Given the description of an element on the screen output the (x, y) to click on. 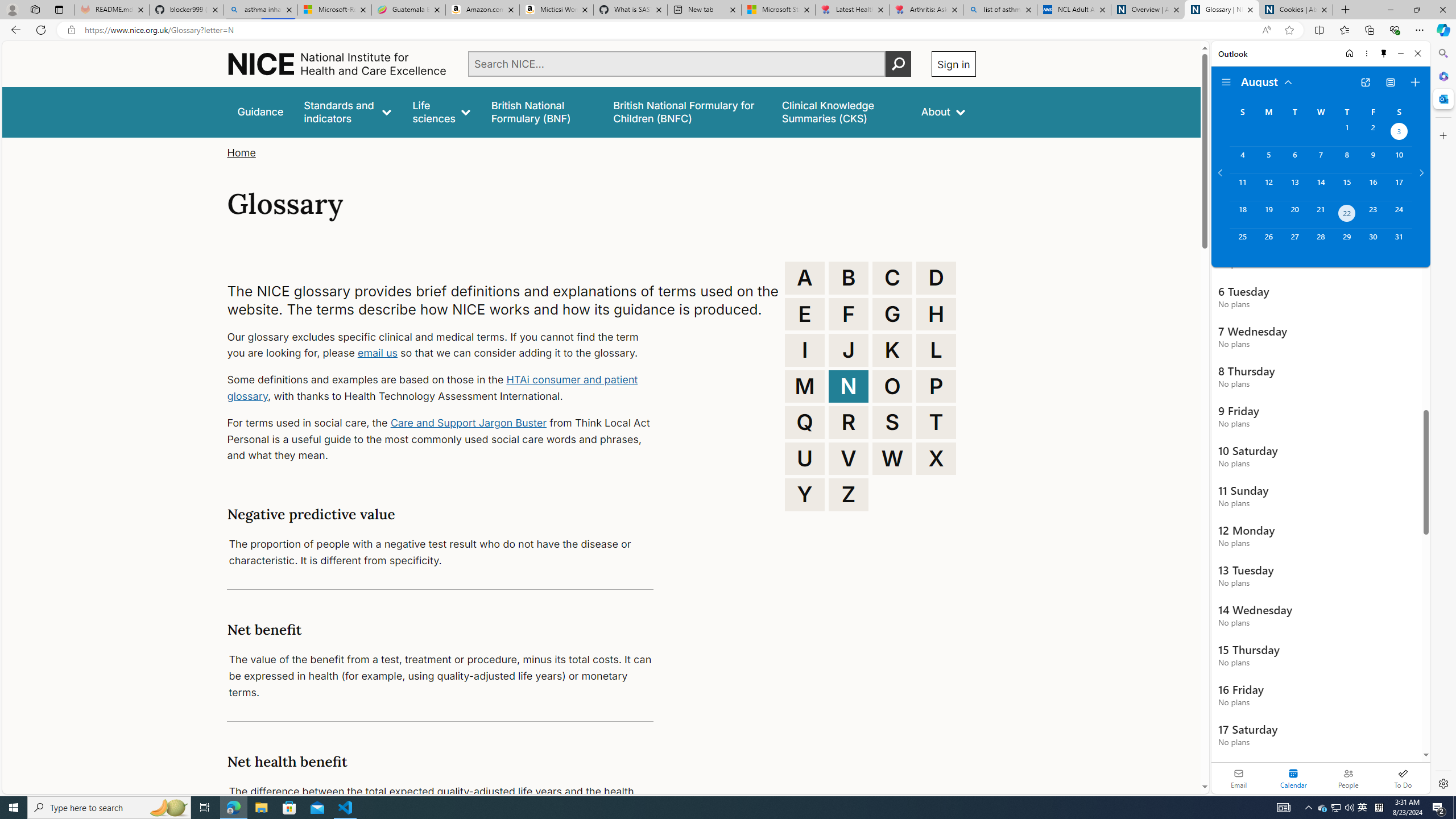
Copilot (Ctrl+Shift+.) (1442, 29)
Wednesday, August 28, 2024.  (1320, 241)
People (1347, 777)
I (804, 350)
X (935, 458)
Tuesday, August 6, 2024.  (1294, 159)
Friday, August 23, 2024.  (1372, 214)
A (804, 277)
Friday, August 9, 2024.  (1372, 159)
R (848, 422)
Personal Profile (12, 9)
X (935, 458)
August (1267, 80)
I (804, 350)
